Given the description of an element on the screen output the (x, y) to click on. 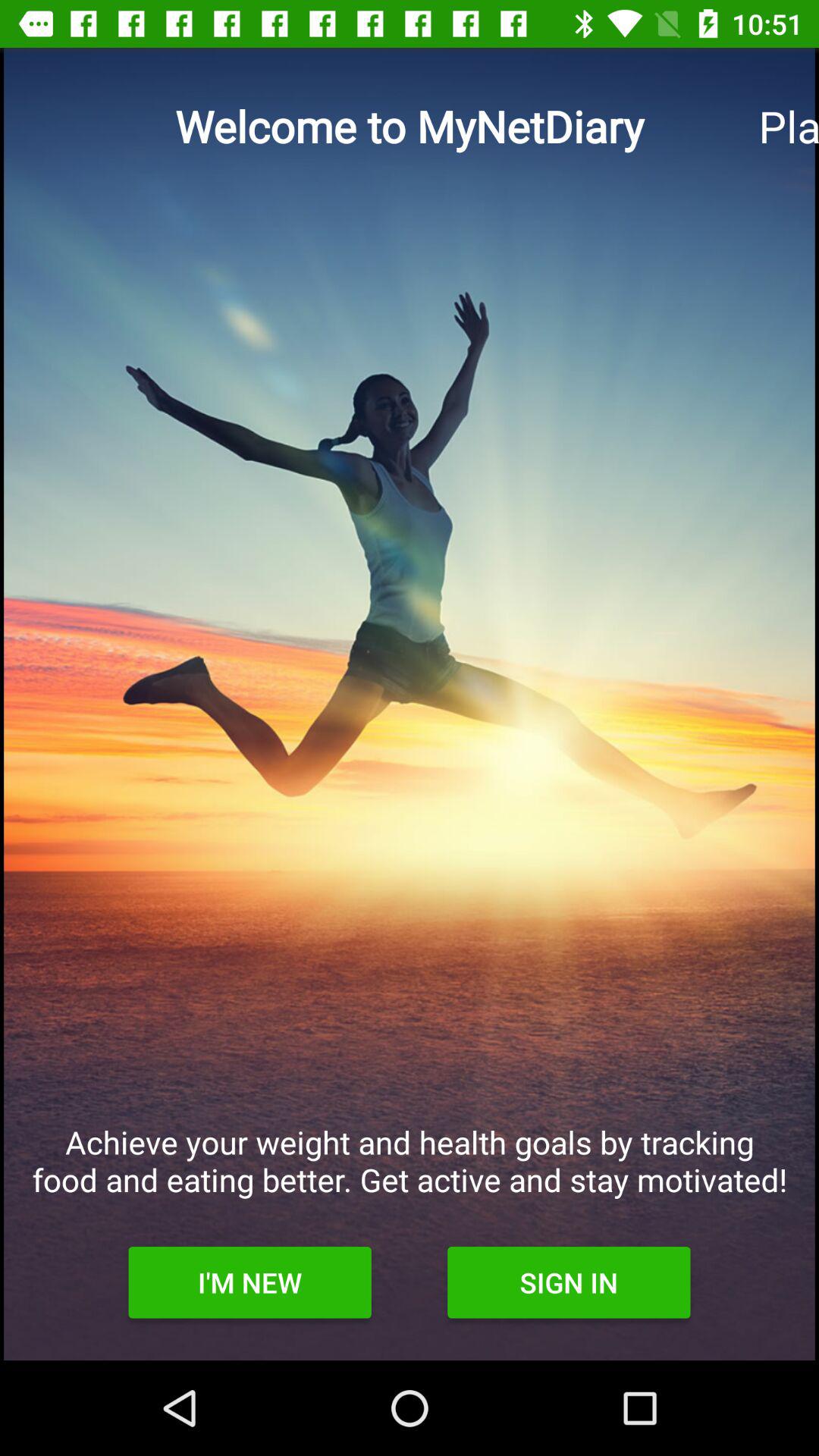
open the icon at the bottom right corner (568, 1282)
